Given the description of an element on the screen output the (x, y) to click on. 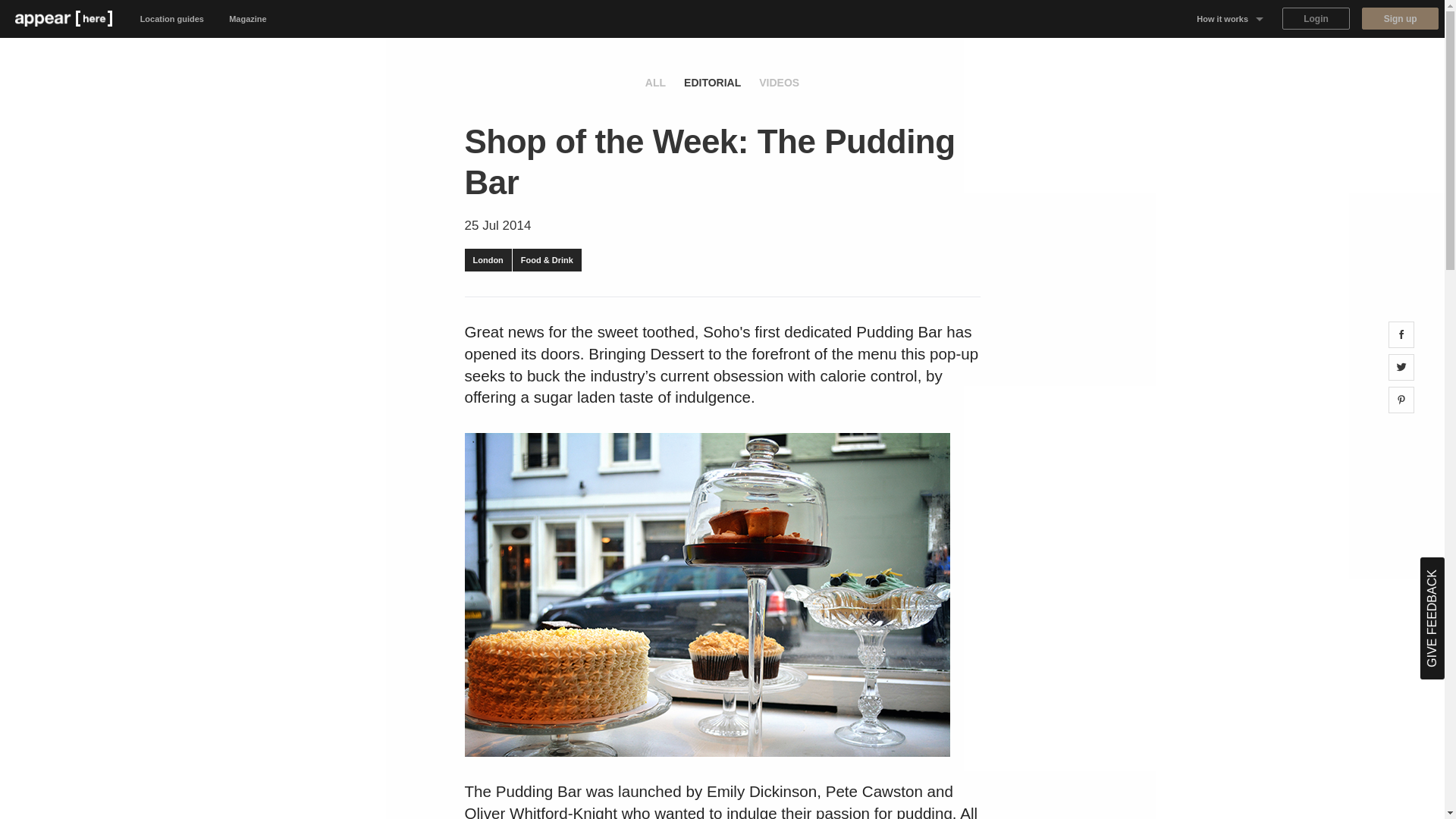
Location guides (172, 18)
Magazine (247, 18)
How it works (1230, 18)
Why Appear Here (1230, 56)
